Given the description of an element on the screen output the (x, y) to click on. 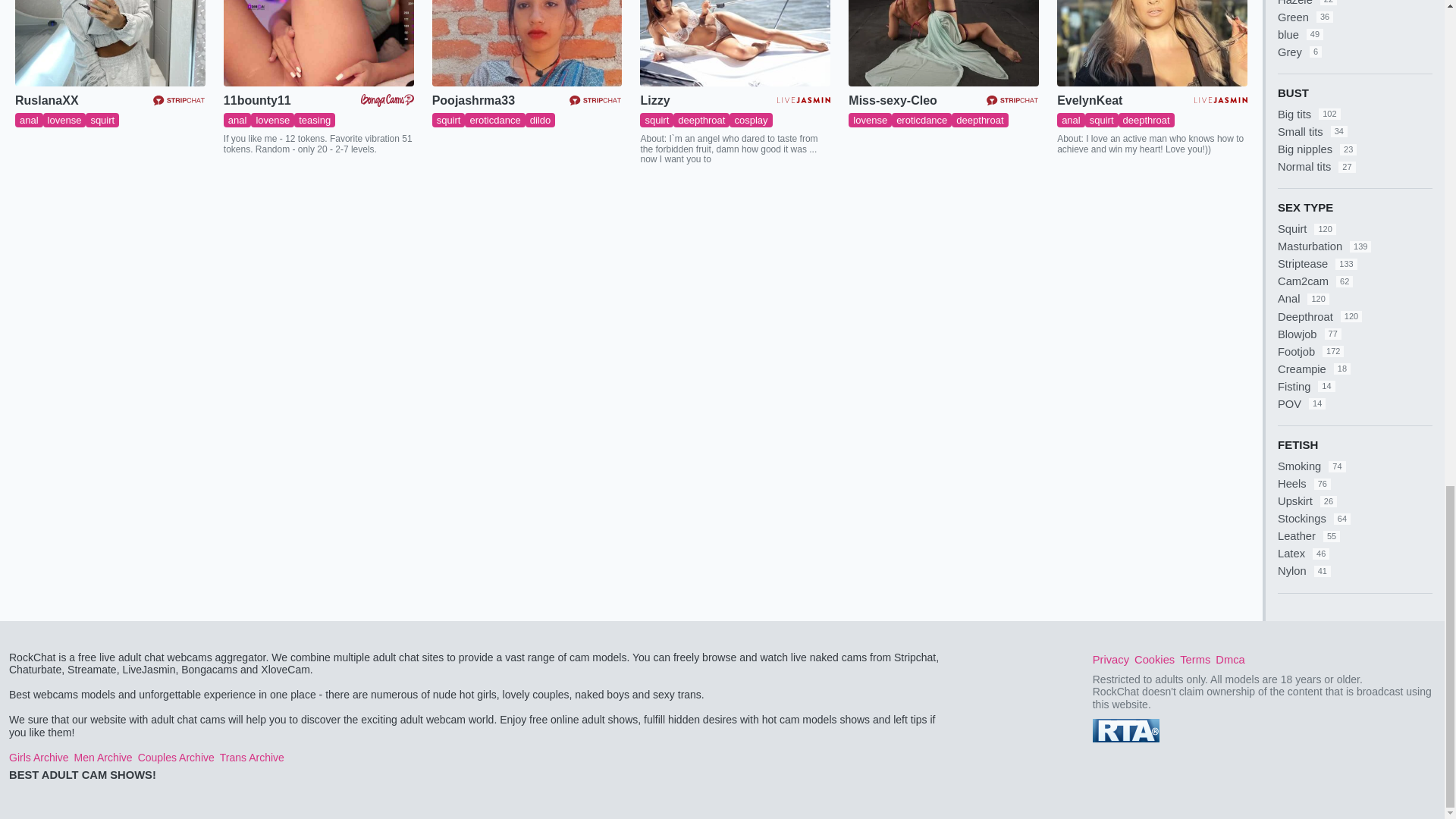
Miss-sexy-CleoLive Webcam (943, 43)
11bounty11Live Webcam (318, 43)
EvelynKeatLive Webcam (1152, 43)
RuslanaXXLive Webcam (109, 43)
Poojashrma33Live Webcam (527, 43)
LizzyLive Webcam (734, 43)
